Given the description of an element on the screen output the (x, y) to click on. 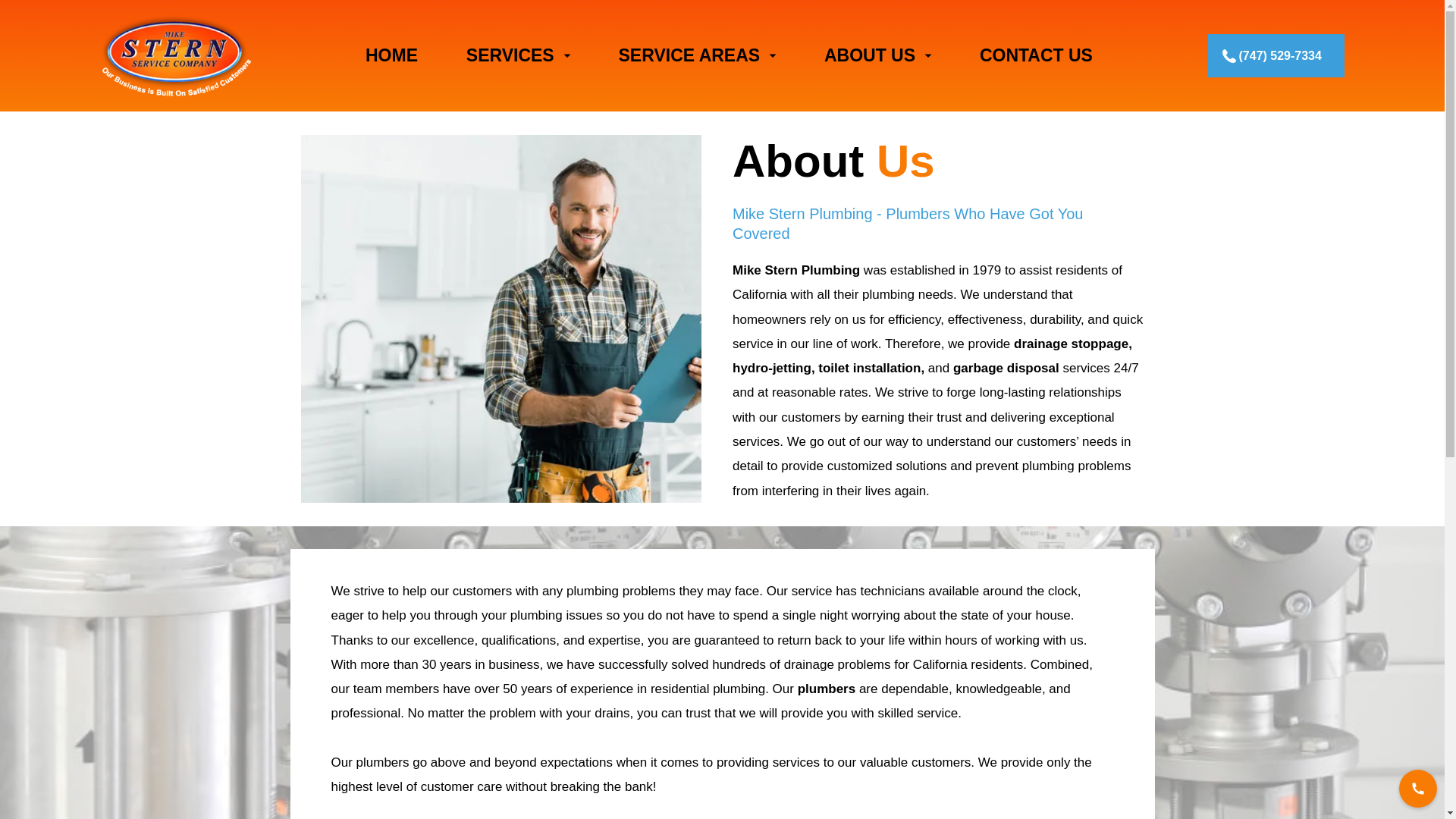
CONTACT US (1035, 55)
SERVICE AREAS (682, 55)
HOME (391, 55)
SERVICES (502, 55)
ABOUT US (862, 55)
